Given the description of an element on the screen output the (x, y) to click on. 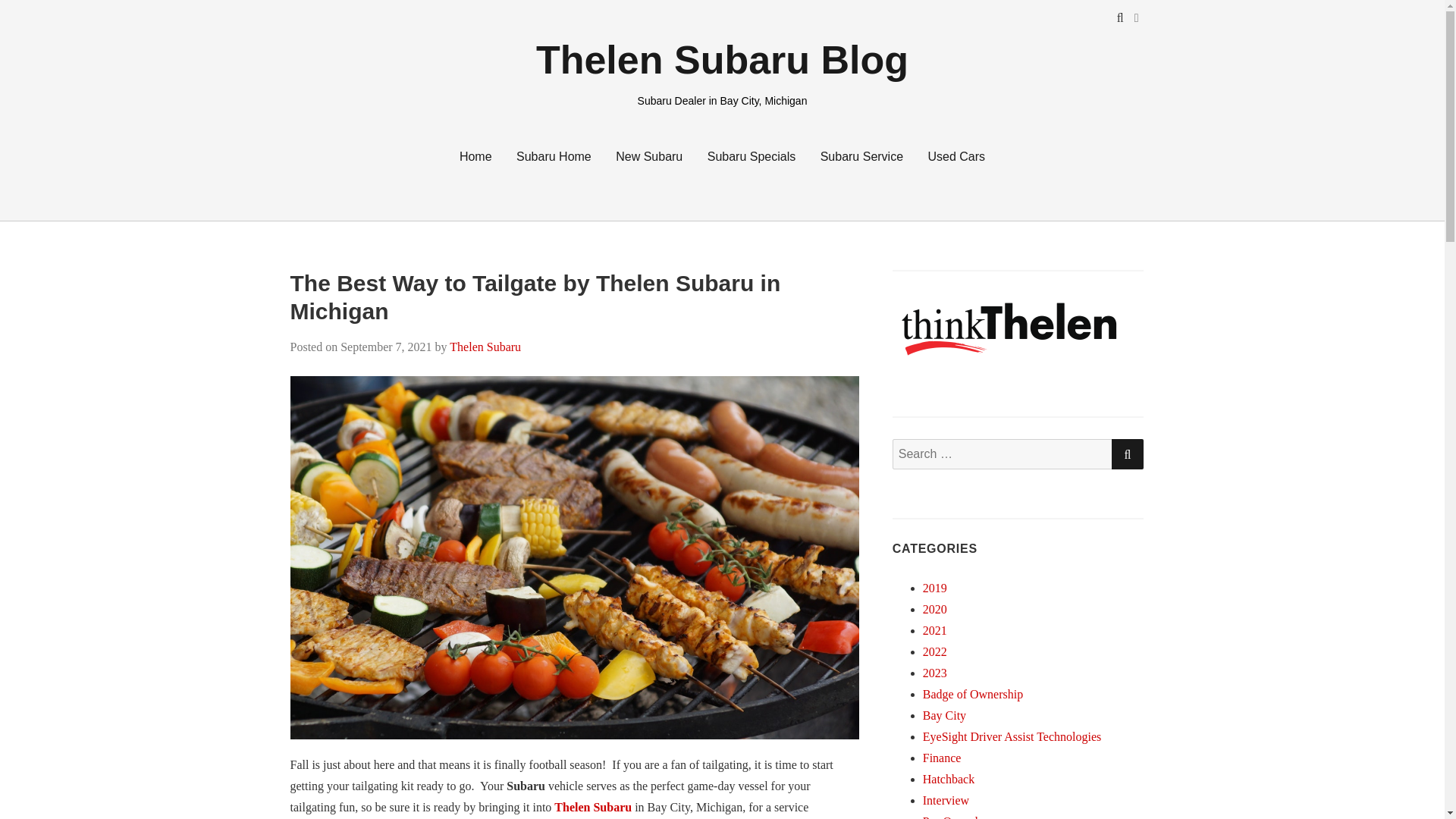
Interview (946, 799)
2023 (935, 672)
Home (475, 156)
Hatchback (948, 779)
SEARCH (1127, 453)
Thelen Subaru (485, 346)
2019 (935, 587)
2022 (935, 651)
Subaru Service (861, 156)
2020 (935, 608)
